Given the description of an element on the screen output the (x, y) to click on. 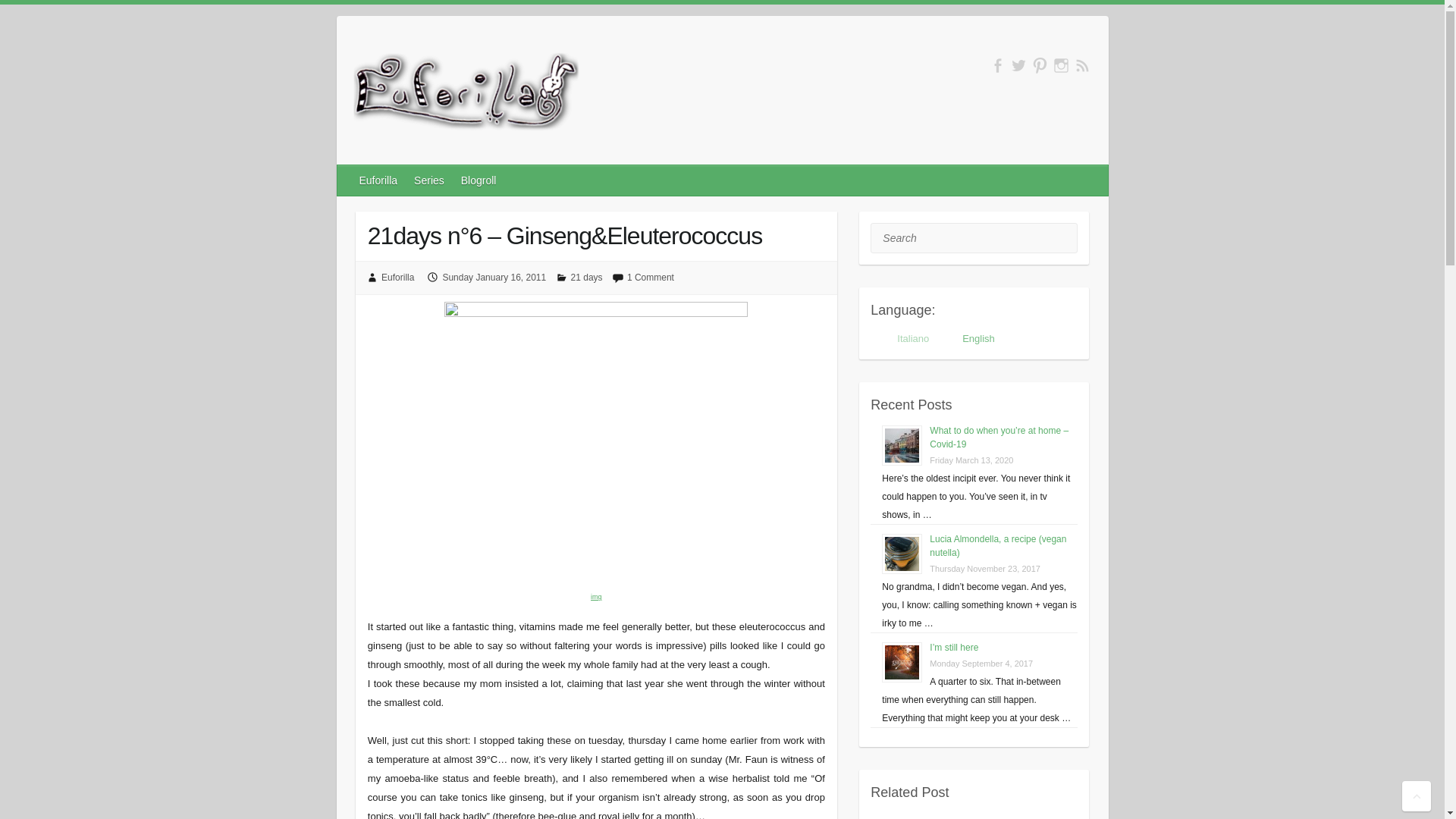
Sunday January 16, 2011 (494, 276)
img (596, 594)
Euforilla on Instagram (1061, 65)
1 Comment (650, 276)
Euforilla (465, 94)
Euforilla on Facebook (997, 65)
Euforilla on Pinterest (1039, 65)
Euforilla on RSS (1082, 65)
English (970, 337)
Euforilla (379, 180)
